Given the description of an element on the screen output the (x, y) to click on. 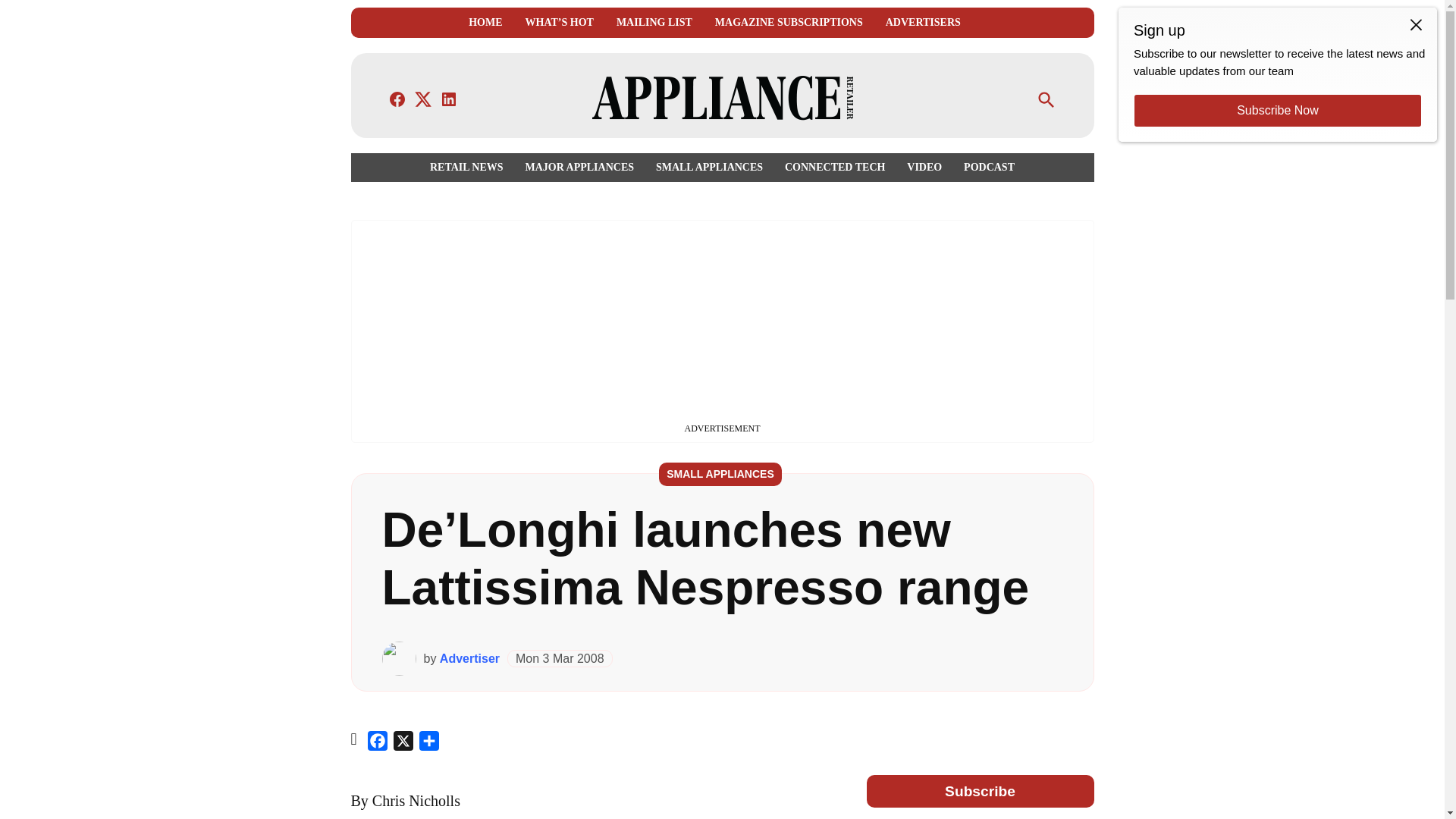
MAILING LIST (653, 22)
TWITTER (422, 99)
Advertiser (469, 658)
CONNECTED TECH (834, 167)
MAJOR APPLIANCES (579, 167)
Facebook (377, 743)
SMALL APPLIANCES (708, 167)
Facebook (377, 743)
FACEBOOK (397, 99)
RETAIL NEWS (470, 167)
ADVERTISERS (922, 22)
Appliance Retailer (983, 109)
LINKEDIN (448, 99)
